Given the description of an element on the screen output the (x, y) to click on. 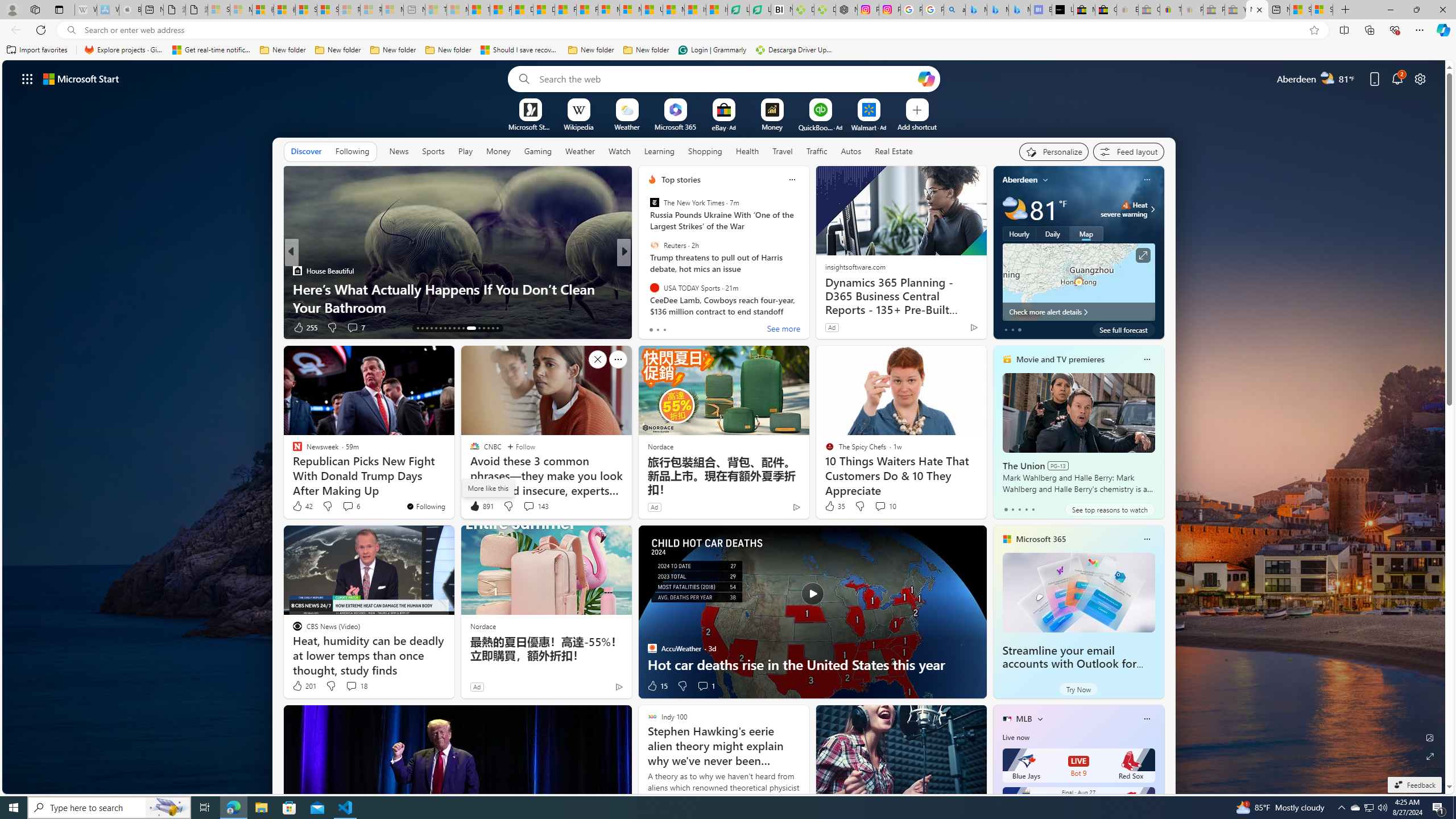
LendingTree - Compare Lenders (760, 9)
View comments 6 Comment (347, 505)
View comments 18 Comment (350, 685)
View comments 460 Comment (703, 327)
Marine life - MSN - Sleeping (457, 9)
Login | Grammarly (712, 49)
